Given the description of an element on the screen output the (x, y) to click on. 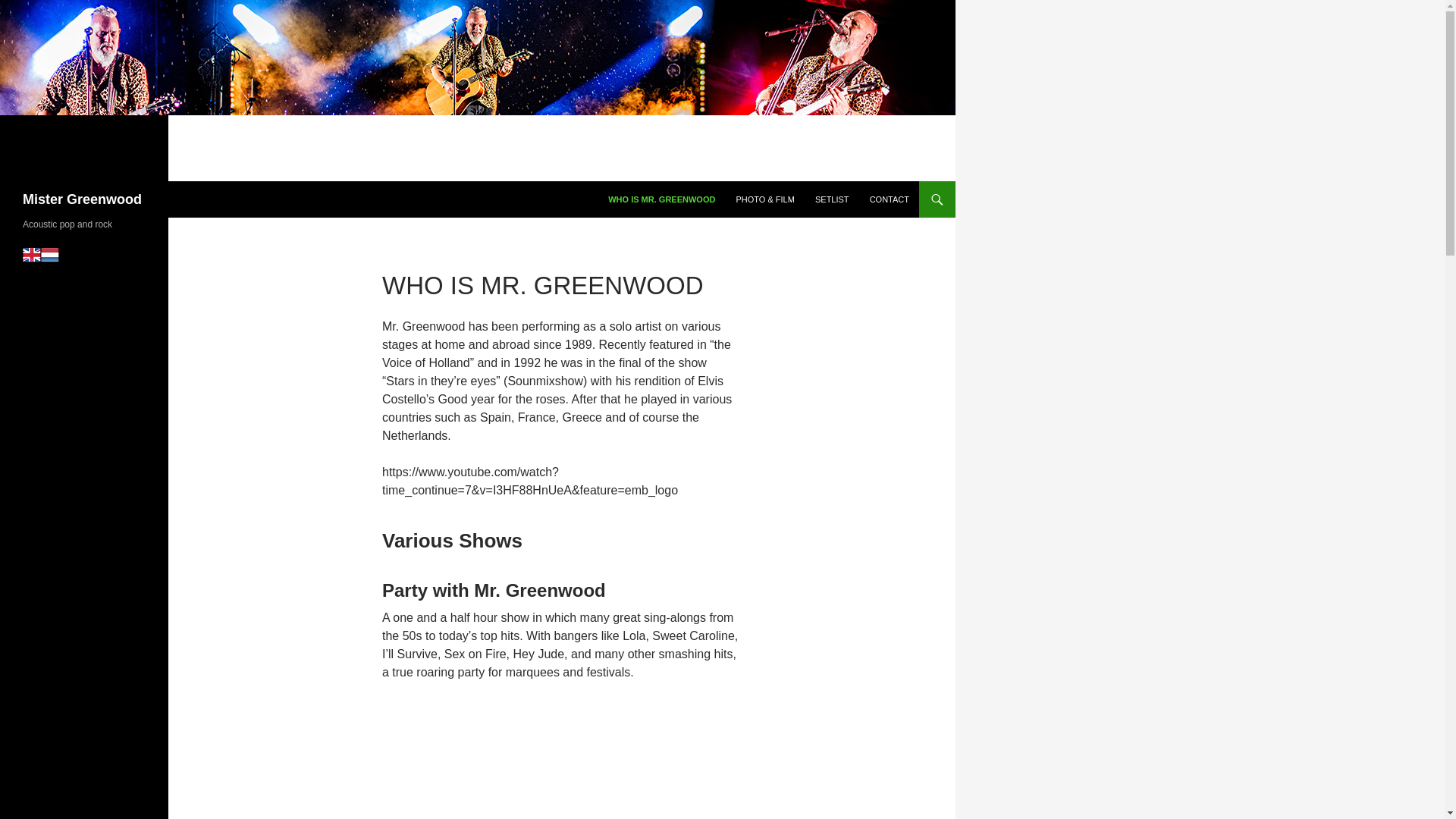
Mister Greenwood (82, 198)
SETLIST (832, 198)
CONTACT (889, 198)
Dutch  (49, 254)
mr Greenwood Kos2021 Lambi resort (561, 759)
English  (31, 254)
WHO IS MR. GREENWOOD (660, 198)
